Given the description of an element on the screen output the (x, y) to click on. 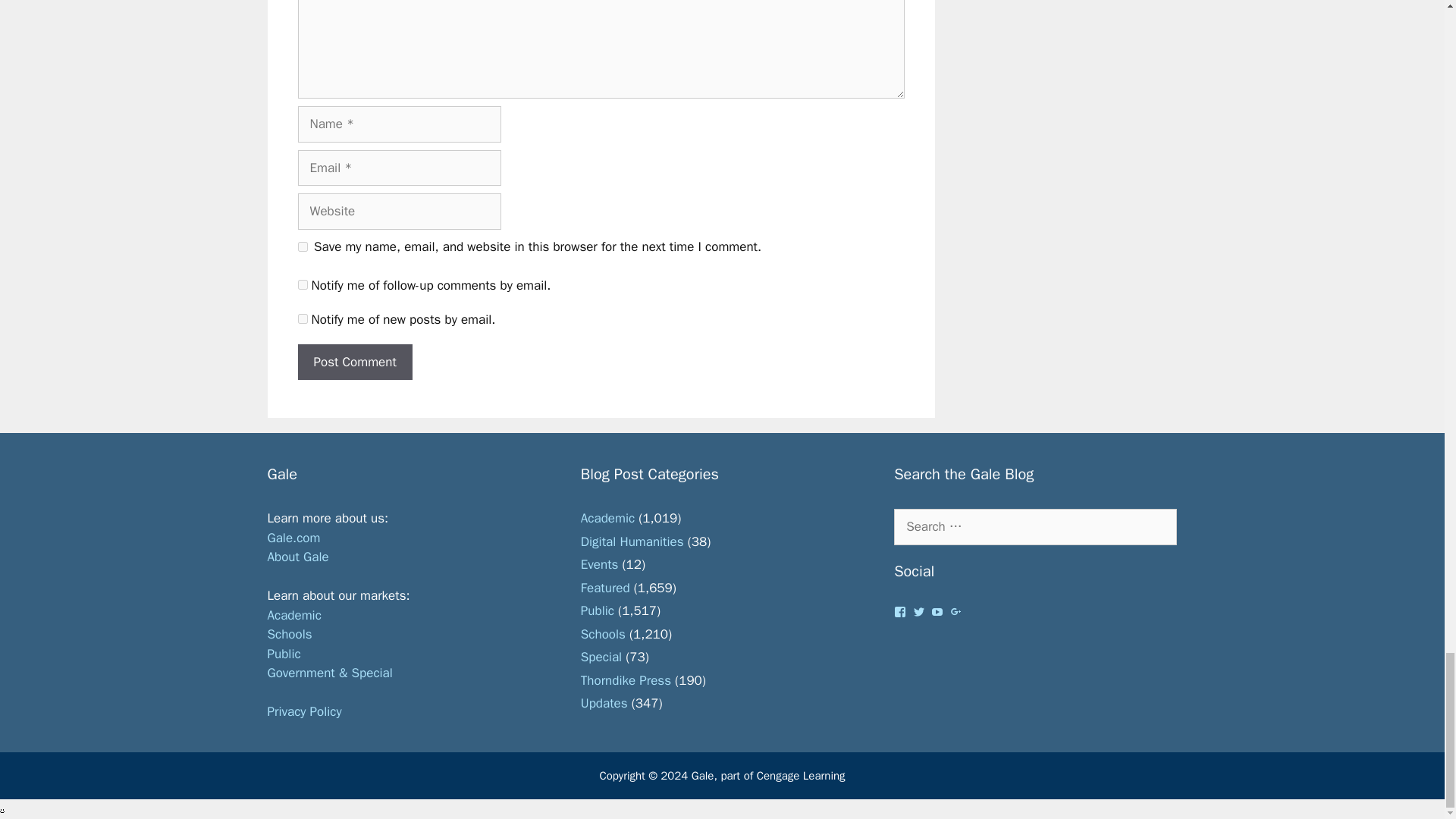
yes (302, 246)
Search for: (1034, 526)
subscribe (302, 284)
subscribe (302, 318)
Post Comment (354, 361)
Post Comment (354, 361)
